Given the description of an element on the screen output the (x, y) to click on. 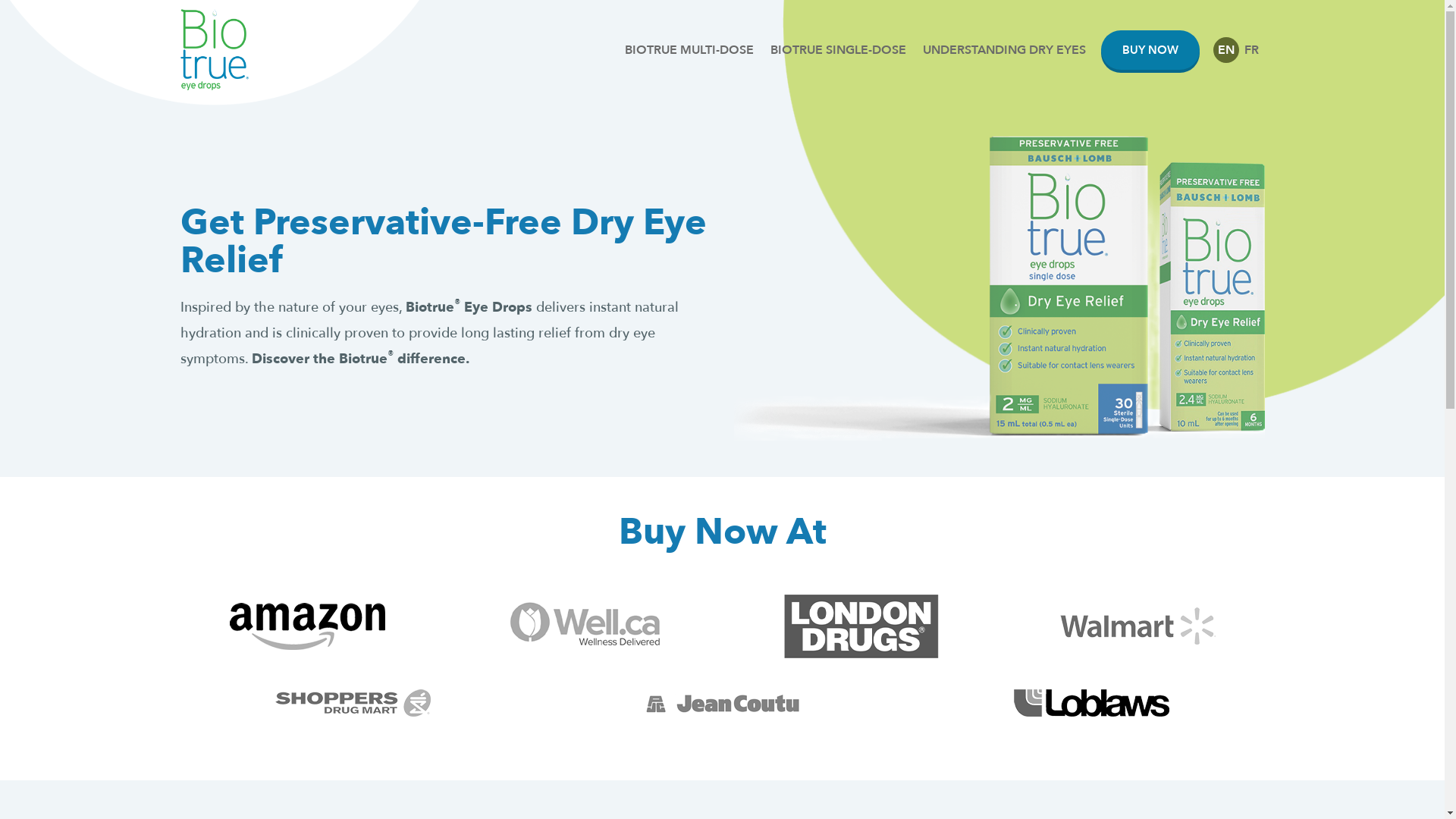
UNDERSTANDING DRY EYES Element type: text (1003, 49)
EN Element type: text (1226, 49)
BIOTRUE MULTI-DOSE Element type: text (689, 49)
BUY NOW Element type: text (1150, 49)
BIOTRUE SINGLE-DOSE Element type: text (837, 49)
FR Element type: text (1251, 49)
